Given the description of an element on the screen output the (x, y) to click on. 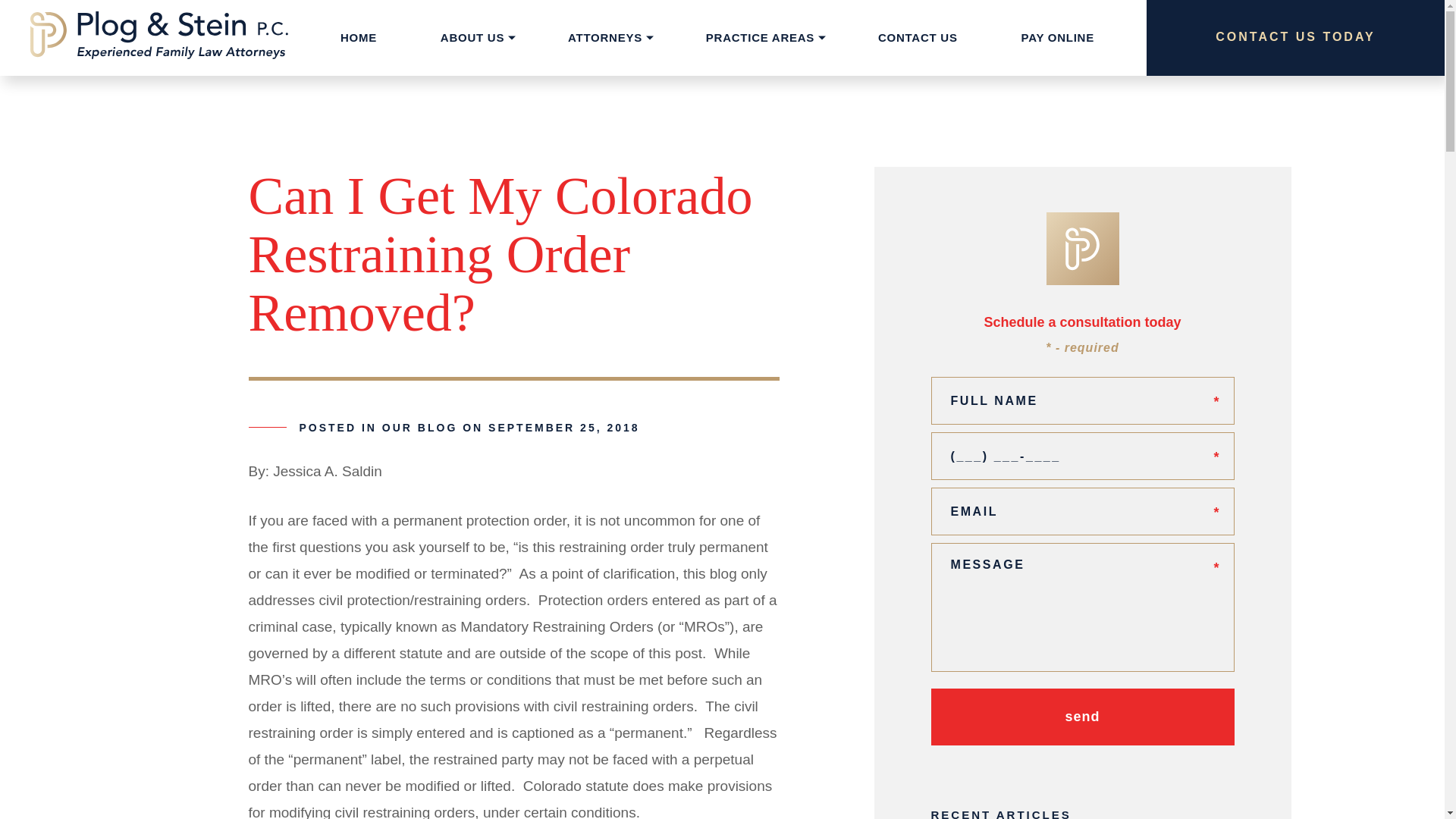
ABOUT US (472, 37)
HOME (358, 37)
ATTORNEYS (604, 37)
Send (1082, 716)
